Given the description of an element on the screen output the (x, y) to click on. 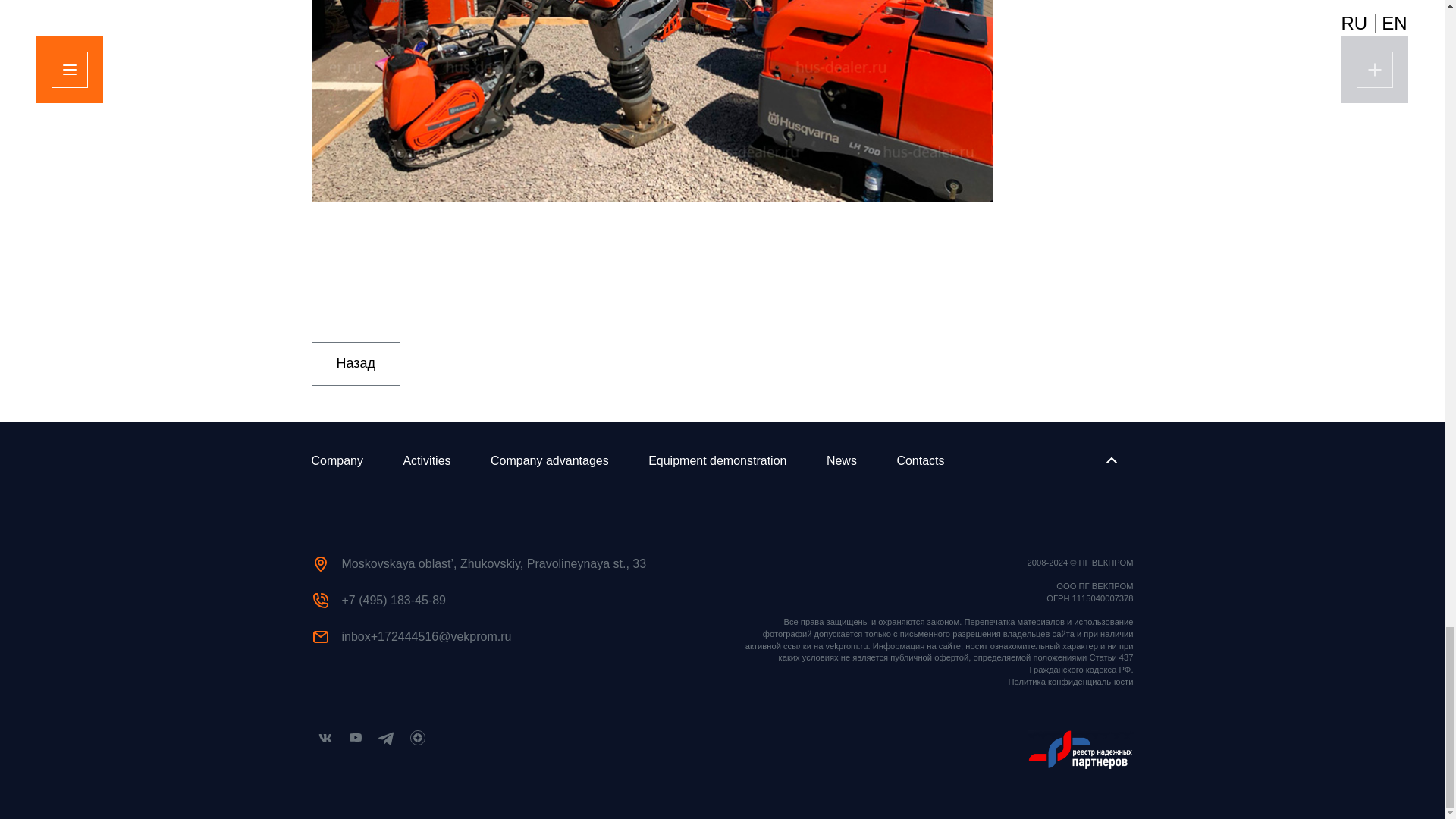
Company advantages (549, 460)
Activities (426, 460)
News (842, 460)
Company (336, 460)
Contacts (919, 460)
Equipment demonstration (716, 460)
